Given the description of an element on the screen output the (x, y) to click on. 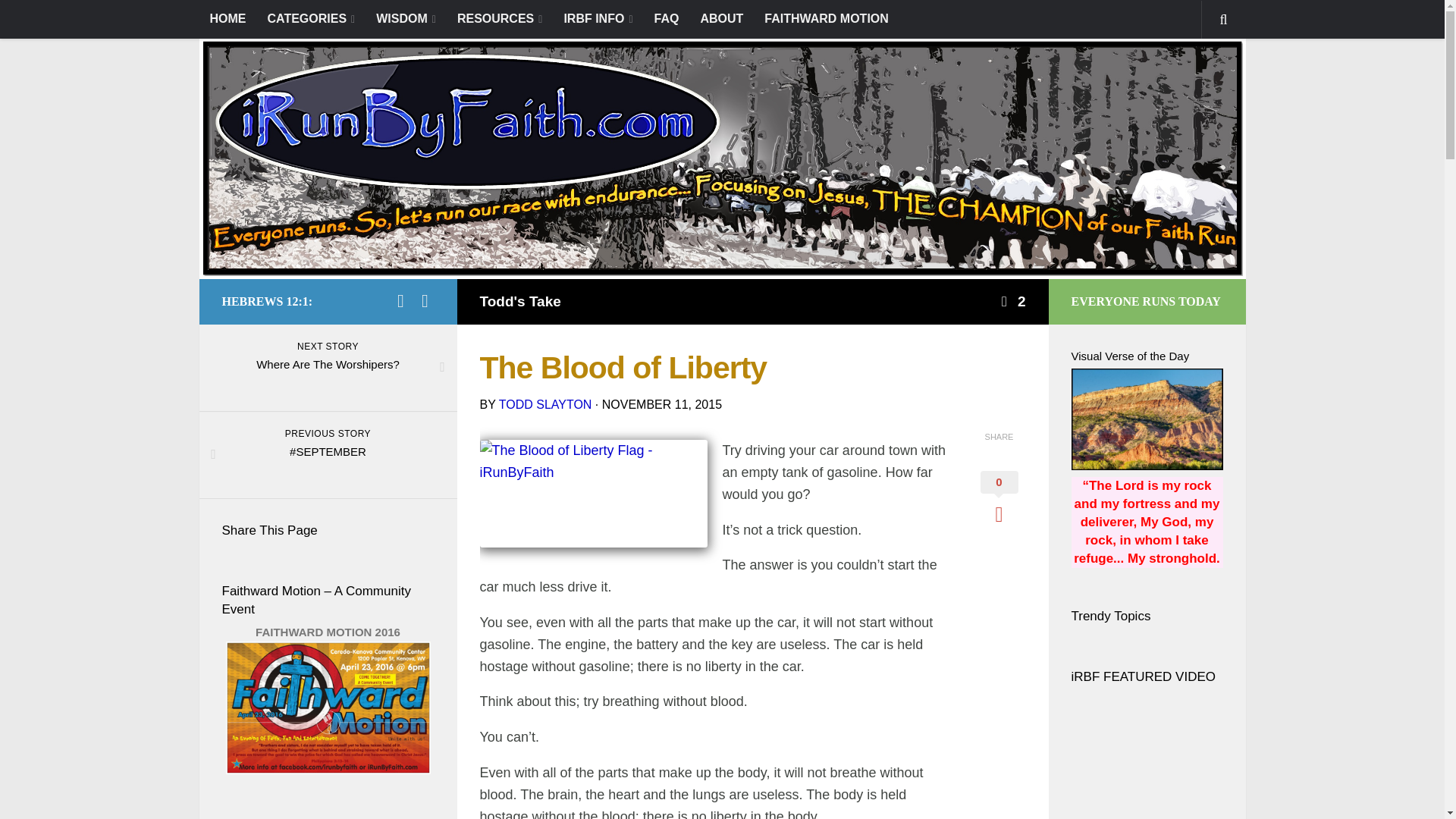
About Faithward Motion (327, 769)
i Run By Faith Facebook (400, 300)
Todd's Take (519, 301)
TODD SLAYTON (545, 404)
2 (1011, 301)
FAQ (666, 18)
WISDOM (405, 19)
Recent Posts (248, 818)
HOME (227, 18)
Recent Comments (353, 818)
CATEGORIES (310, 19)
IRBF INFO (598, 19)
ABOUT (721, 18)
Tags (406, 818)
FAITHWARD MOTION (826, 18)
